Given the description of an element on the screen output the (x, y) to click on. 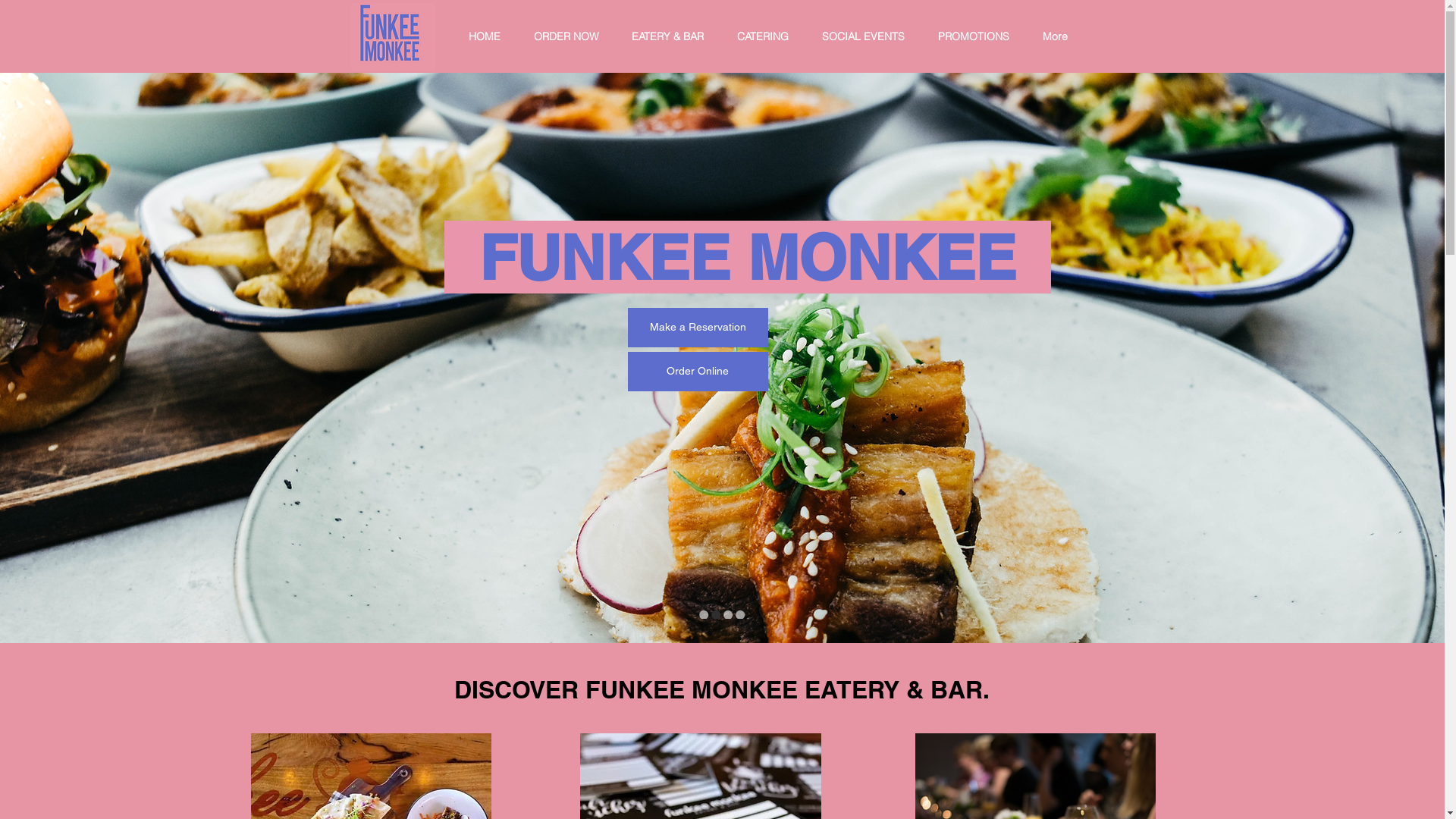
Order Online Element type: text (697, 371)
PROMOTIONS Element type: text (978, 36)
CATERING Element type: text (766, 36)
HOME Element type: text (488, 36)
EATERY & BAR Element type: text (672, 36)
ORDER NOW Element type: text (570, 36)
Make a Reservation Element type: text (697, 327)
SOCIAL EVENTS Element type: text (867, 36)
